Given the description of an element on the screen output the (x, y) to click on. 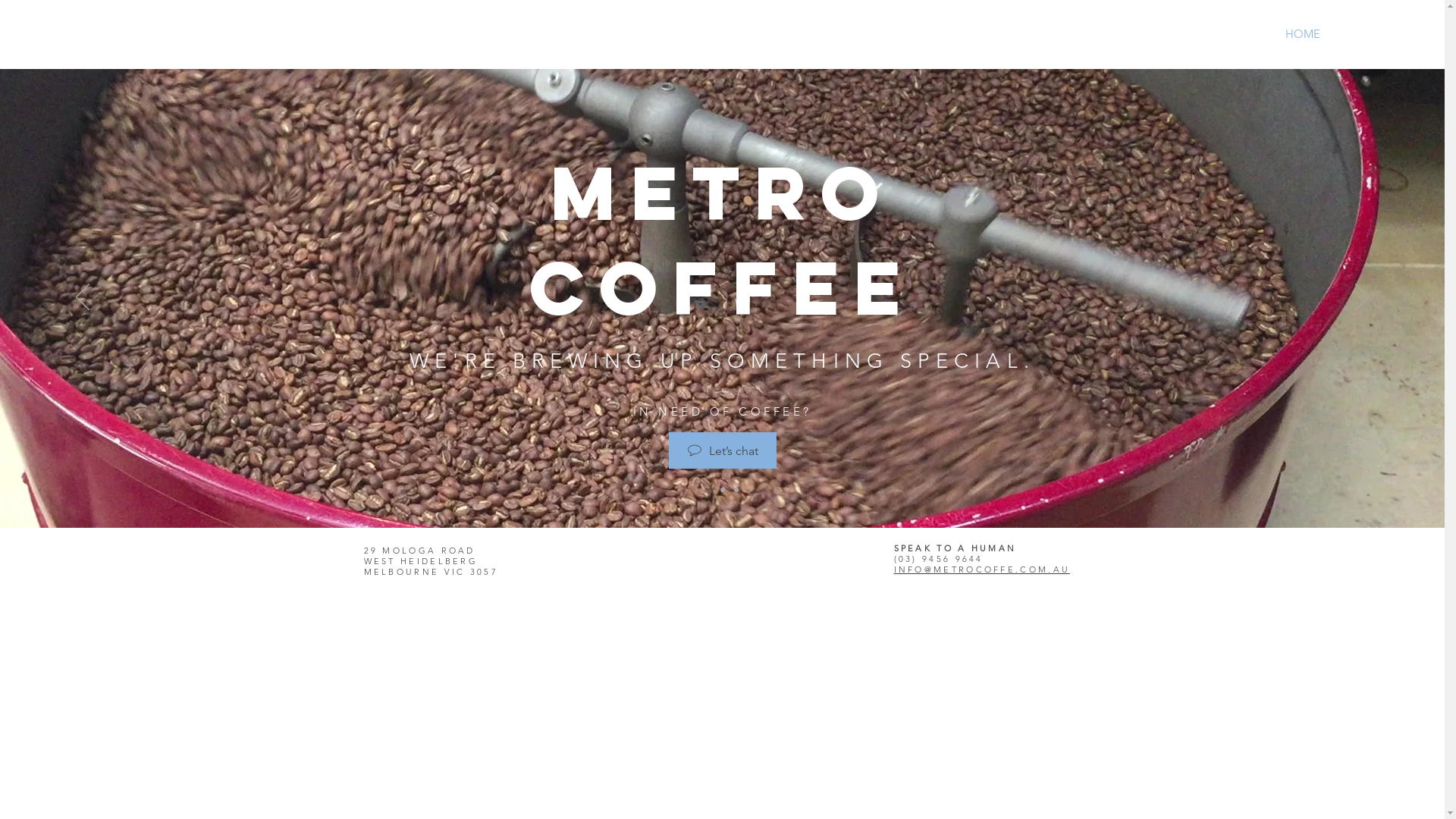
INFO@METROCOFFE.COM.AU Element type: text (981, 569)
HOME Element type: text (1302, 34)
